Given the description of an element on the screen output the (x, y) to click on. 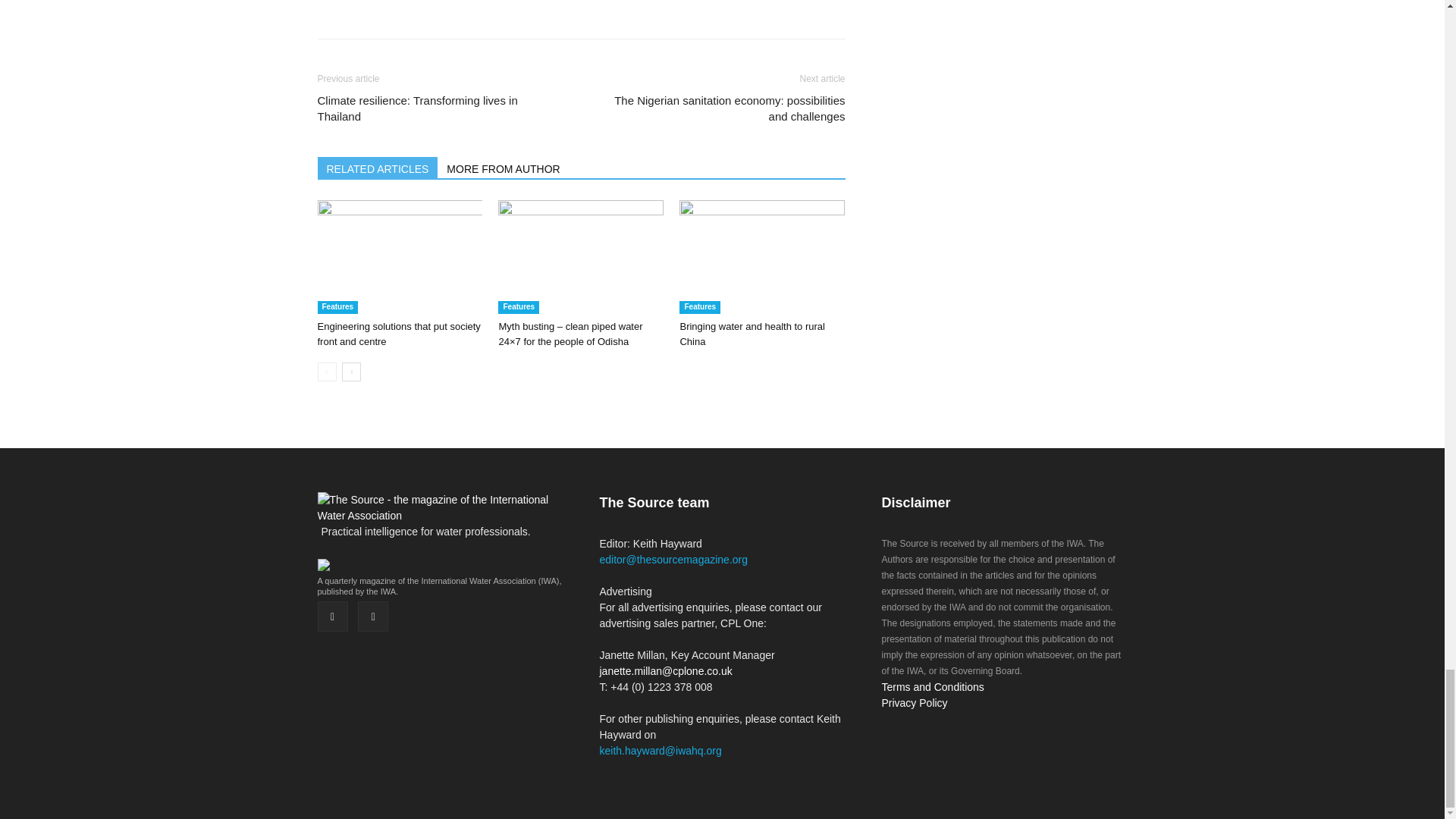
Engineering solutions that put society front and centre (399, 256)
Engineering solutions that put society front and centre (398, 334)
Bringing water and health to rural China (761, 256)
Bringing water and health to rural China (752, 334)
